Given the description of an element on the screen output the (x, y) to click on. 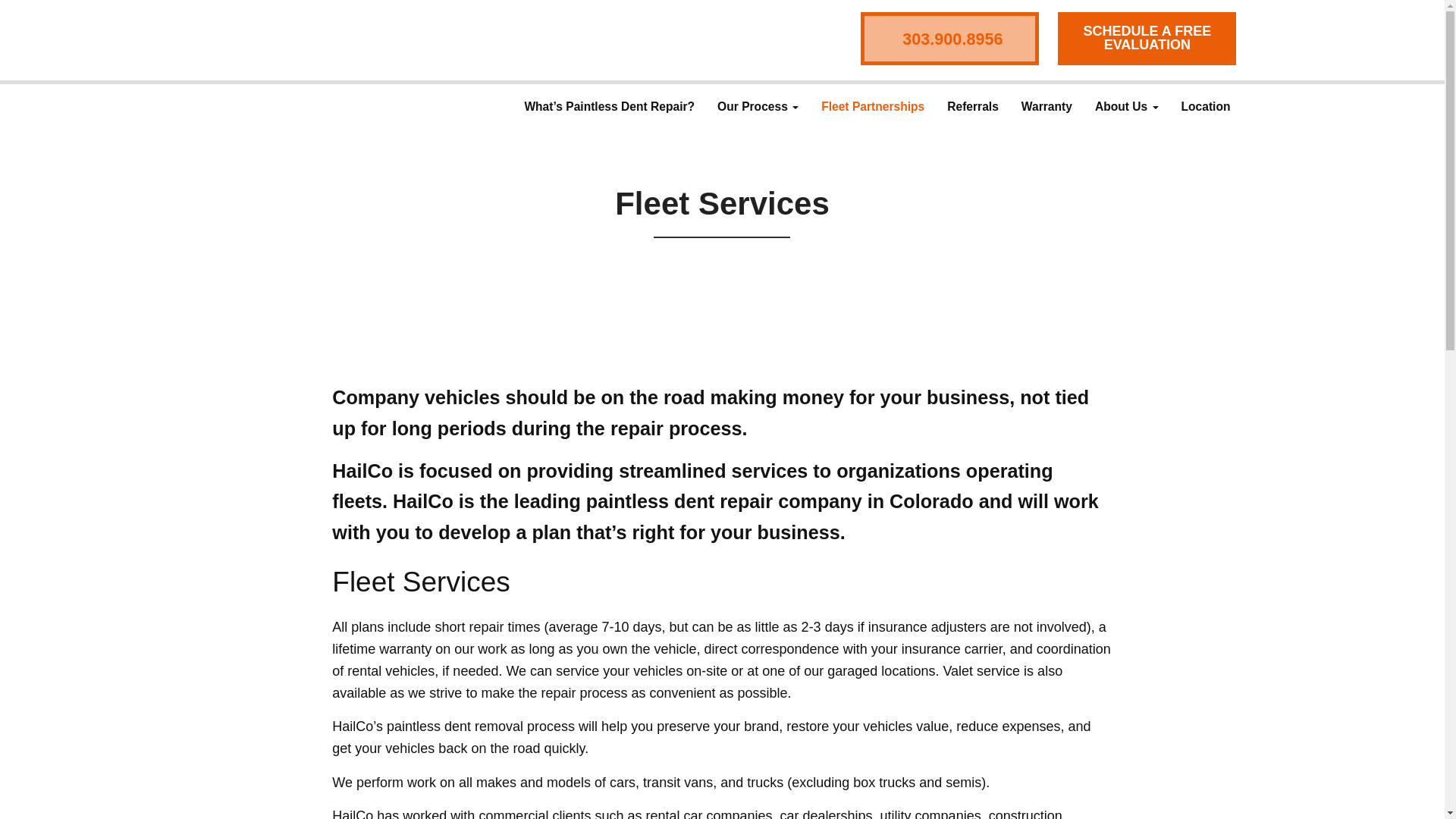
Location (1205, 106)
303.900.8956 (950, 38)
Warranty (1046, 106)
Warranty (1046, 106)
Front Page (298, 40)
Our Process (757, 106)
Front Page (298, 40)
SCHEDULE A FREE EVALUATION (1146, 37)
Our Process (757, 106)
Referrals (973, 106)
